Given the description of an element on the screen output the (x, y) to click on. 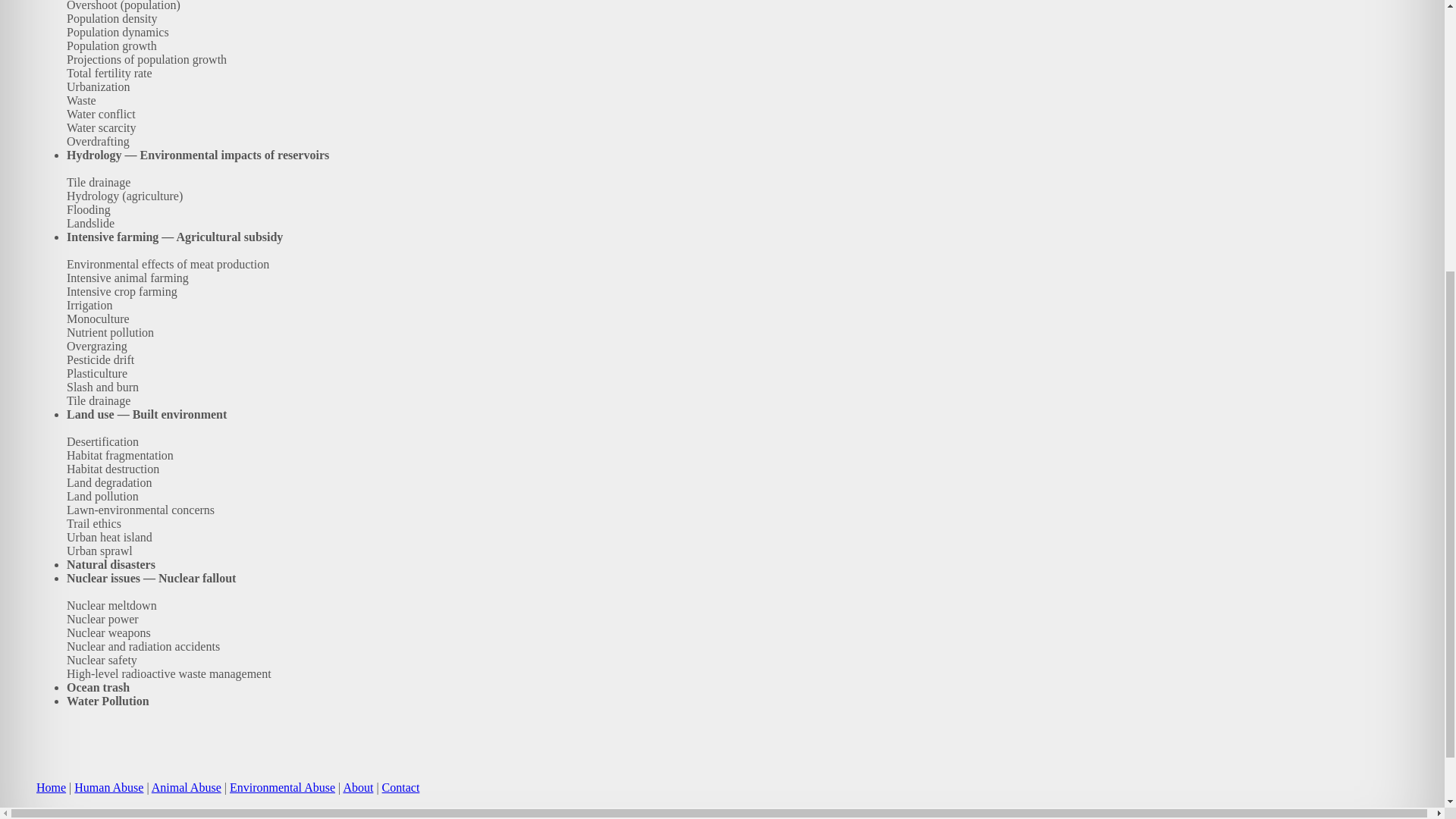
Environmental Abuse (282, 787)
About (357, 787)
Home (50, 787)
Animal Abuse (186, 787)
Human Abuse (108, 787)
Contact (400, 787)
